Given the description of an element on the screen output the (x, y) to click on. 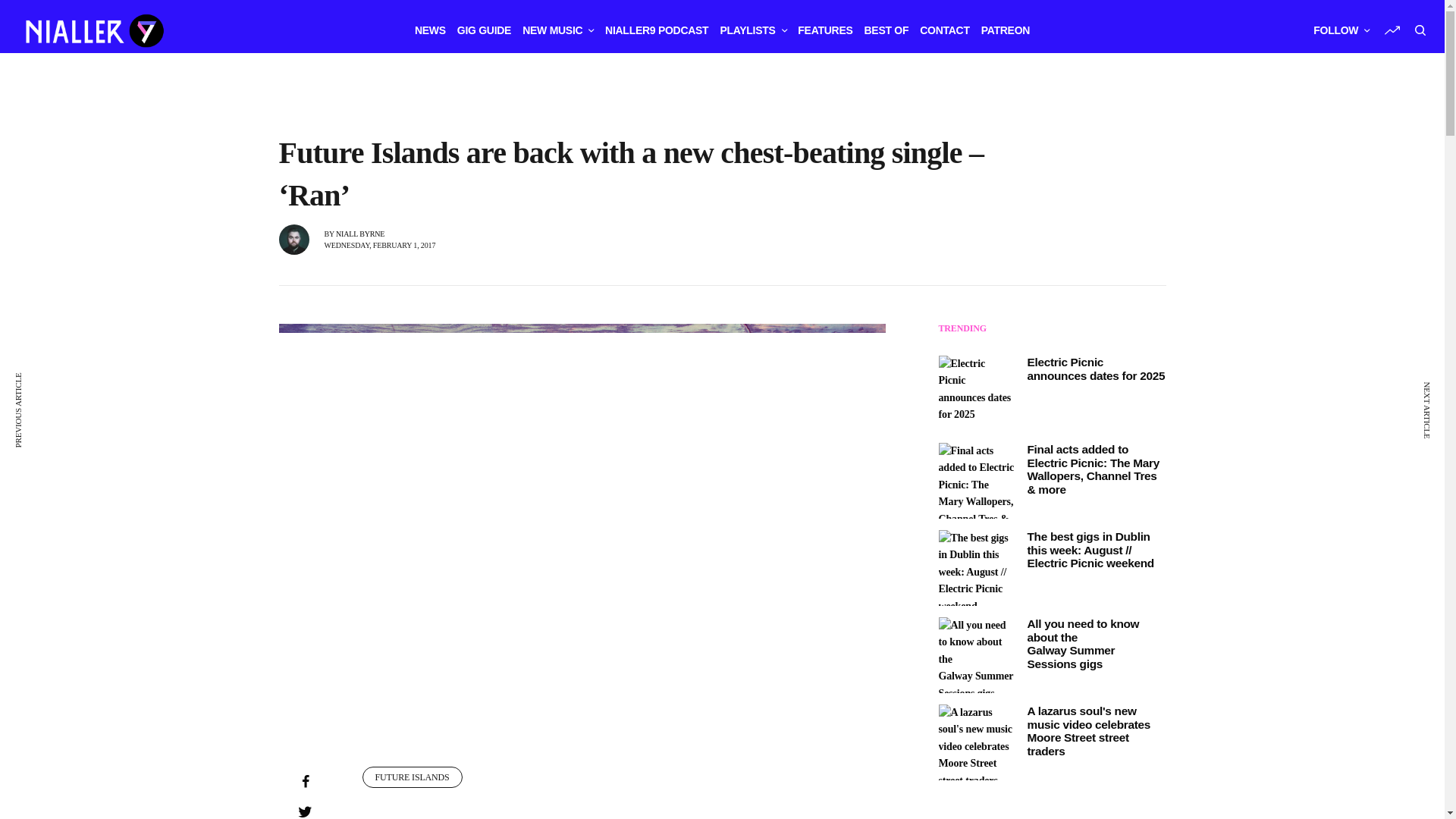
Nialler9 (92, 30)
Playlists (752, 30)
Best Of (886, 30)
